Given the description of an element on the screen output the (x, y) to click on. 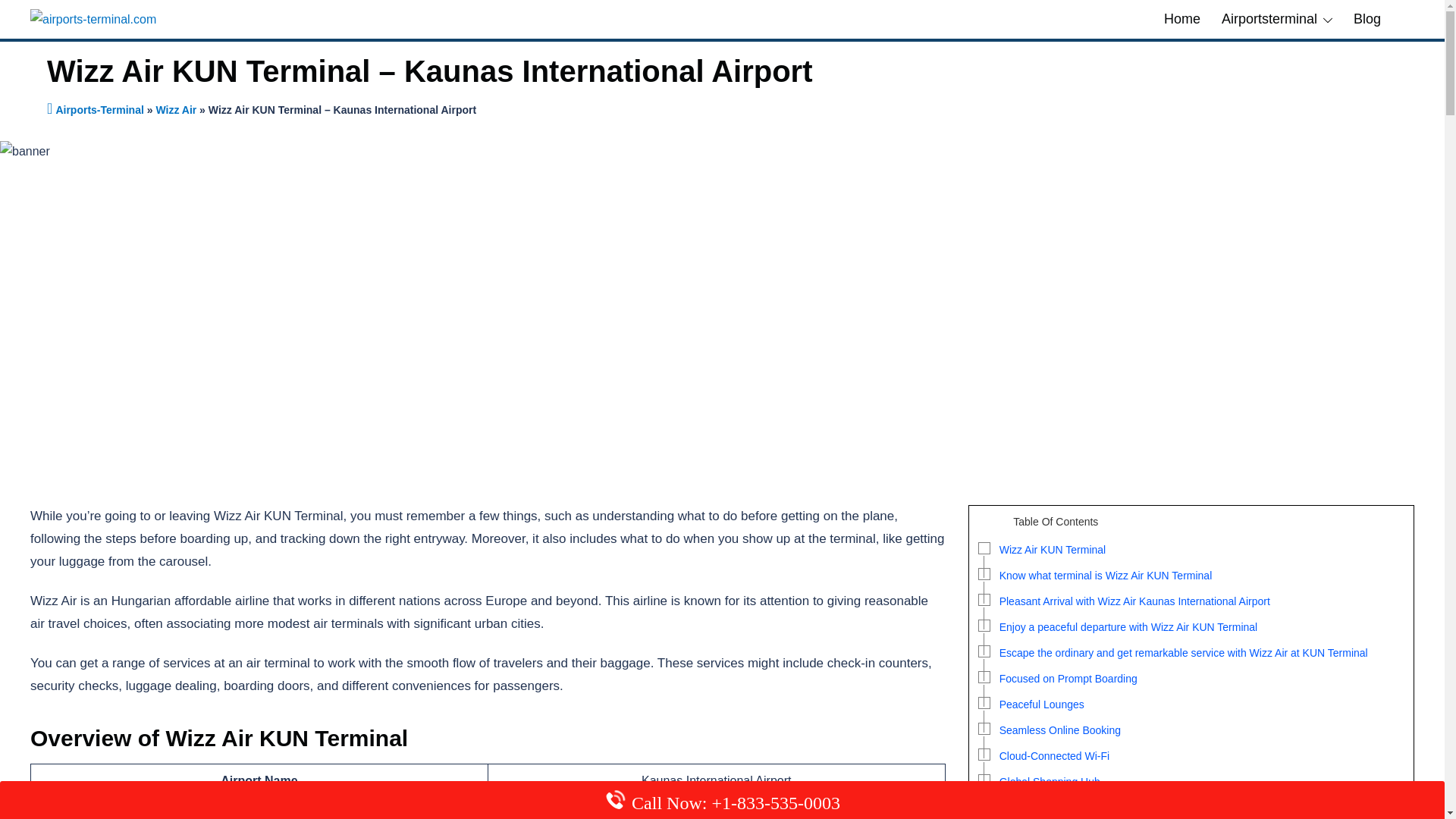
Blog (1367, 19)
Airportsterminal (1269, 19)
airports-terminal.com (92, 18)
Home (1181, 19)
